Given the description of an element on the screen output the (x, y) to click on. 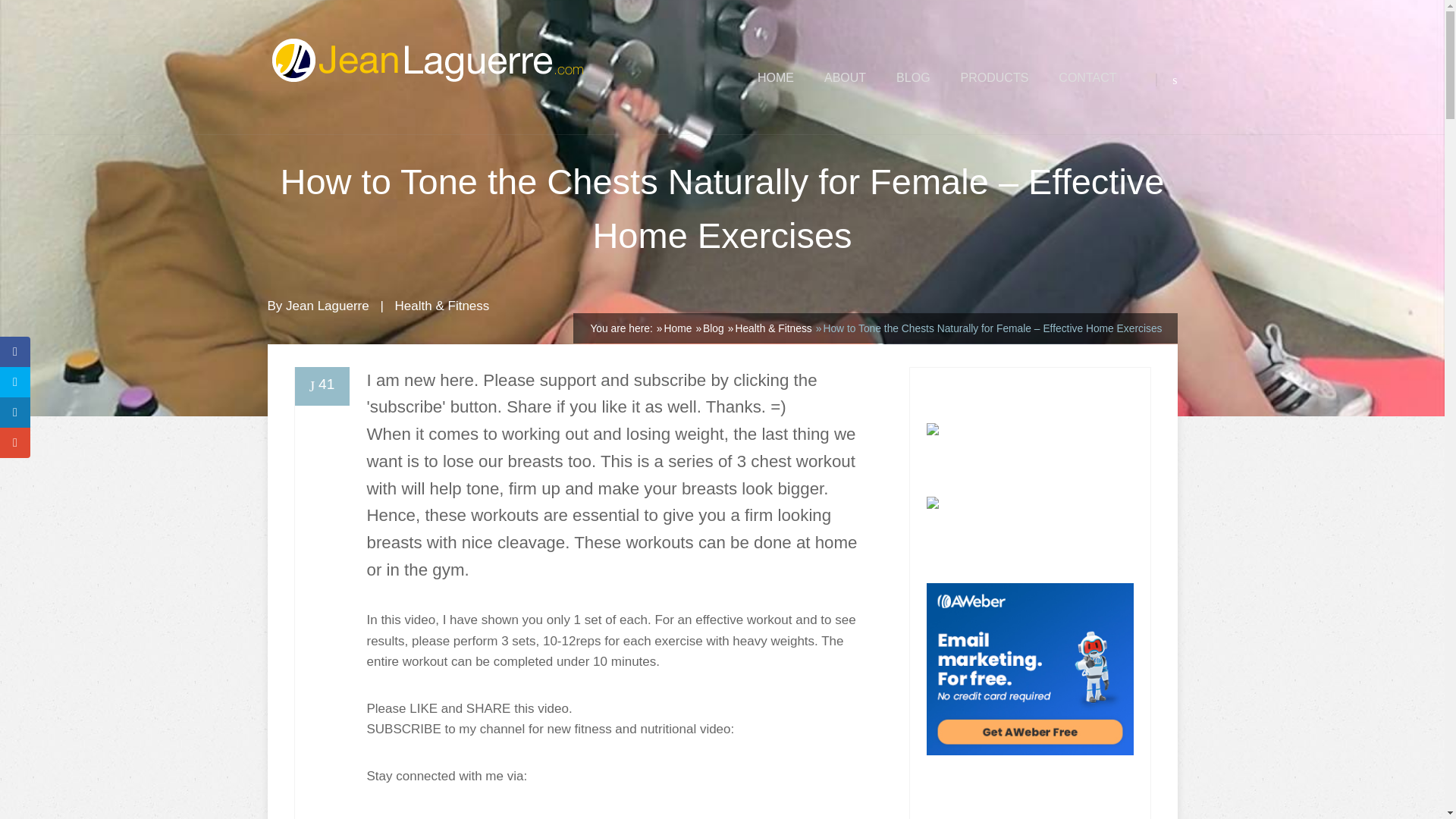
BLOG (913, 78)
HOME (775, 78)
41 (321, 385)
Home (678, 328)
CONTACT (1087, 78)
ABOUT (845, 78)
Jean Laguerre (327, 305)
PRODUCTS (994, 78)
Blog (713, 328)
